Given the description of an element on the screen output the (x, y) to click on. 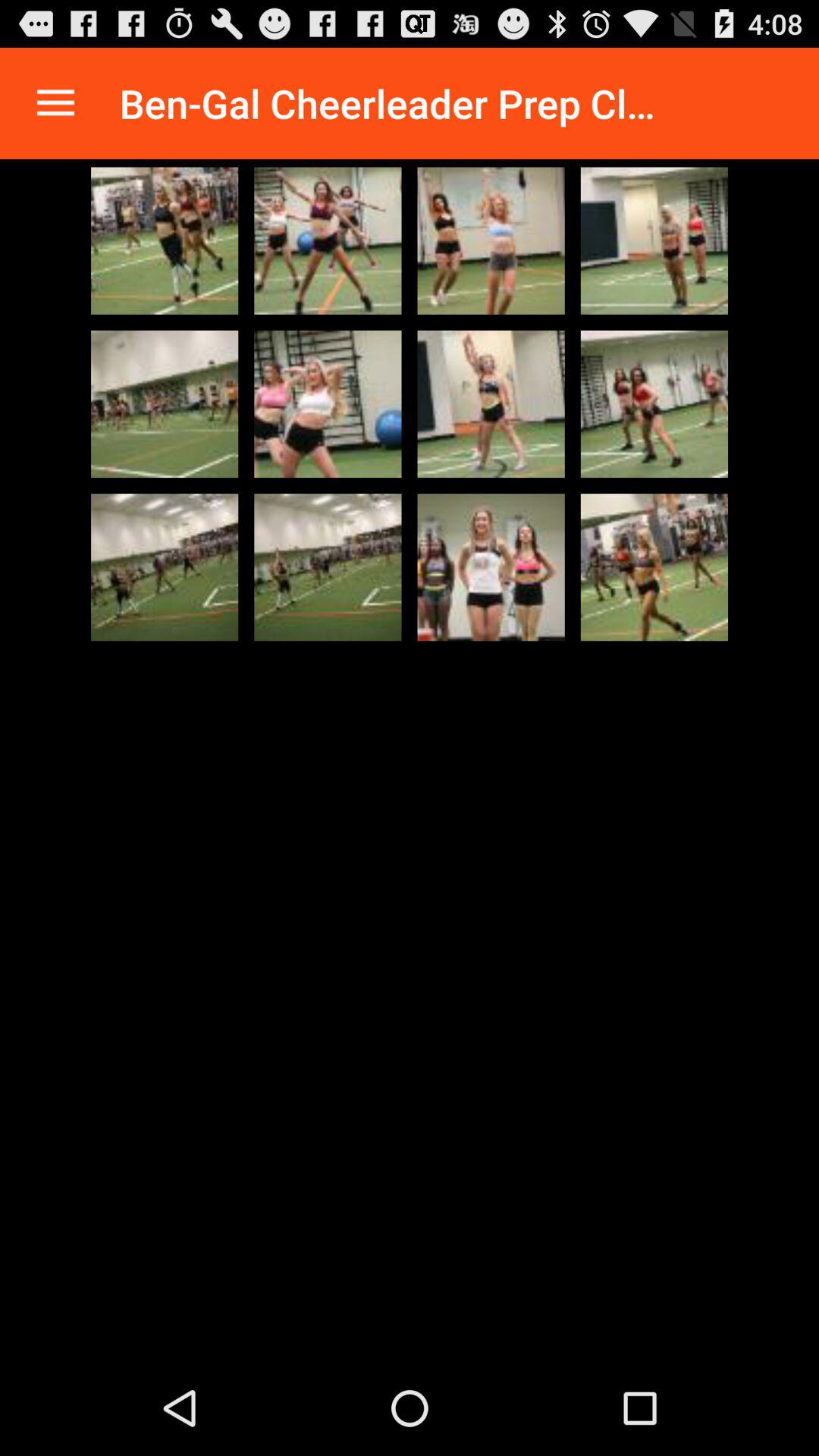
select image to enlarge (490, 566)
